Given the description of an element on the screen output the (x, y) to click on. 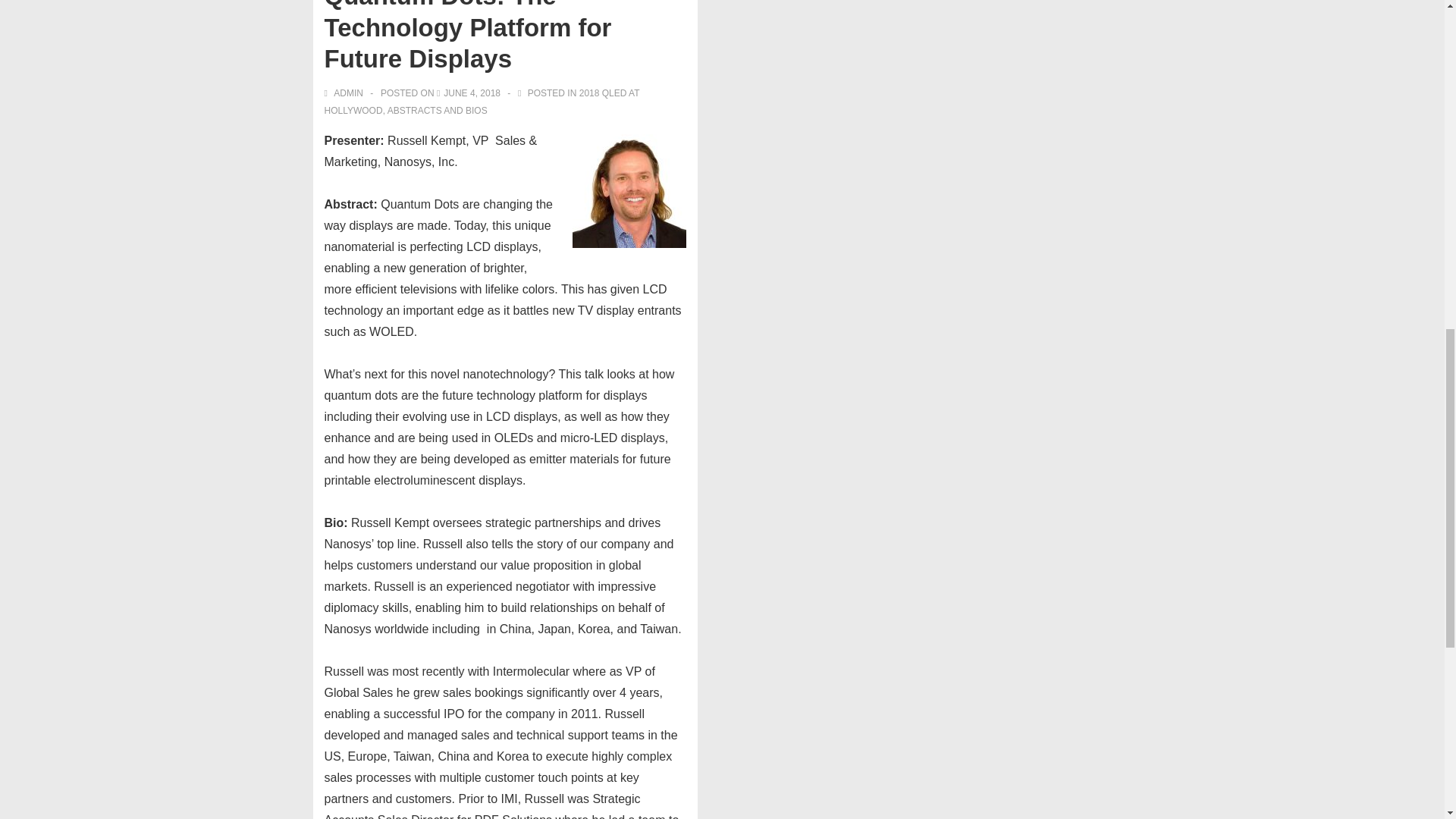
Quantum Dots: The Technology Platform for Future Displays (472, 92)
2018 QLED AT HOLLYWOOD (482, 101)
View all posts by admin (345, 92)
ADMIN (345, 92)
ABSTRACTS AND BIOS (437, 110)
JUNE 4, 2018 (472, 92)
